Given the description of an element on the screen output the (x, y) to click on. 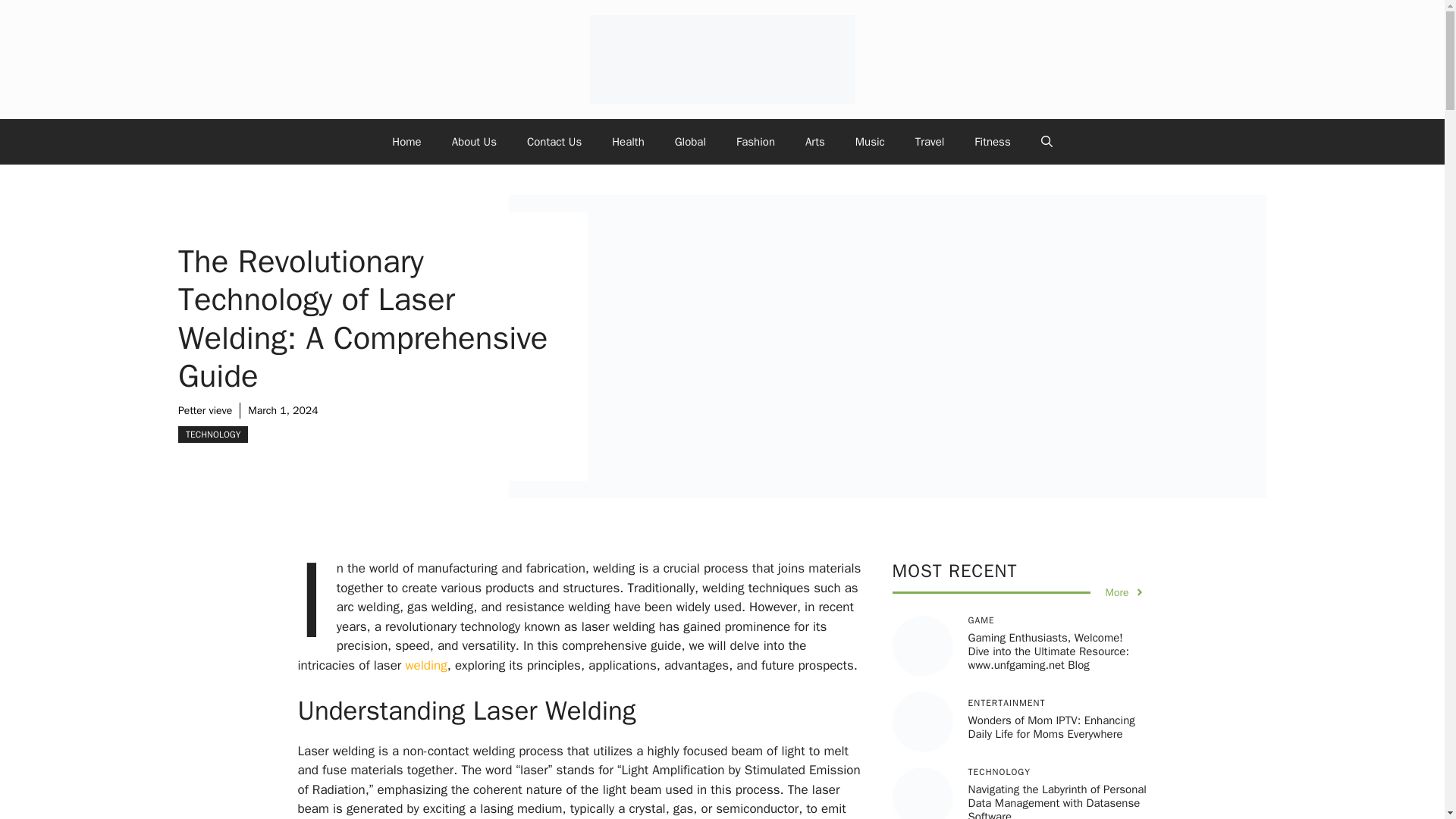
Music (869, 141)
TECHNOLOGY (212, 434)
welding (425, 664)
Home (406, 141)
Contact Us (554, 141)
Arts (815, 141)
Fitness (992, 141)
Fashion (755, 141)
Health (627, 141)
Global (689, 141)
More (1124, 592)
Travel (929, 141)
